Given the description of an element on the screen output the (x, y) to click on. 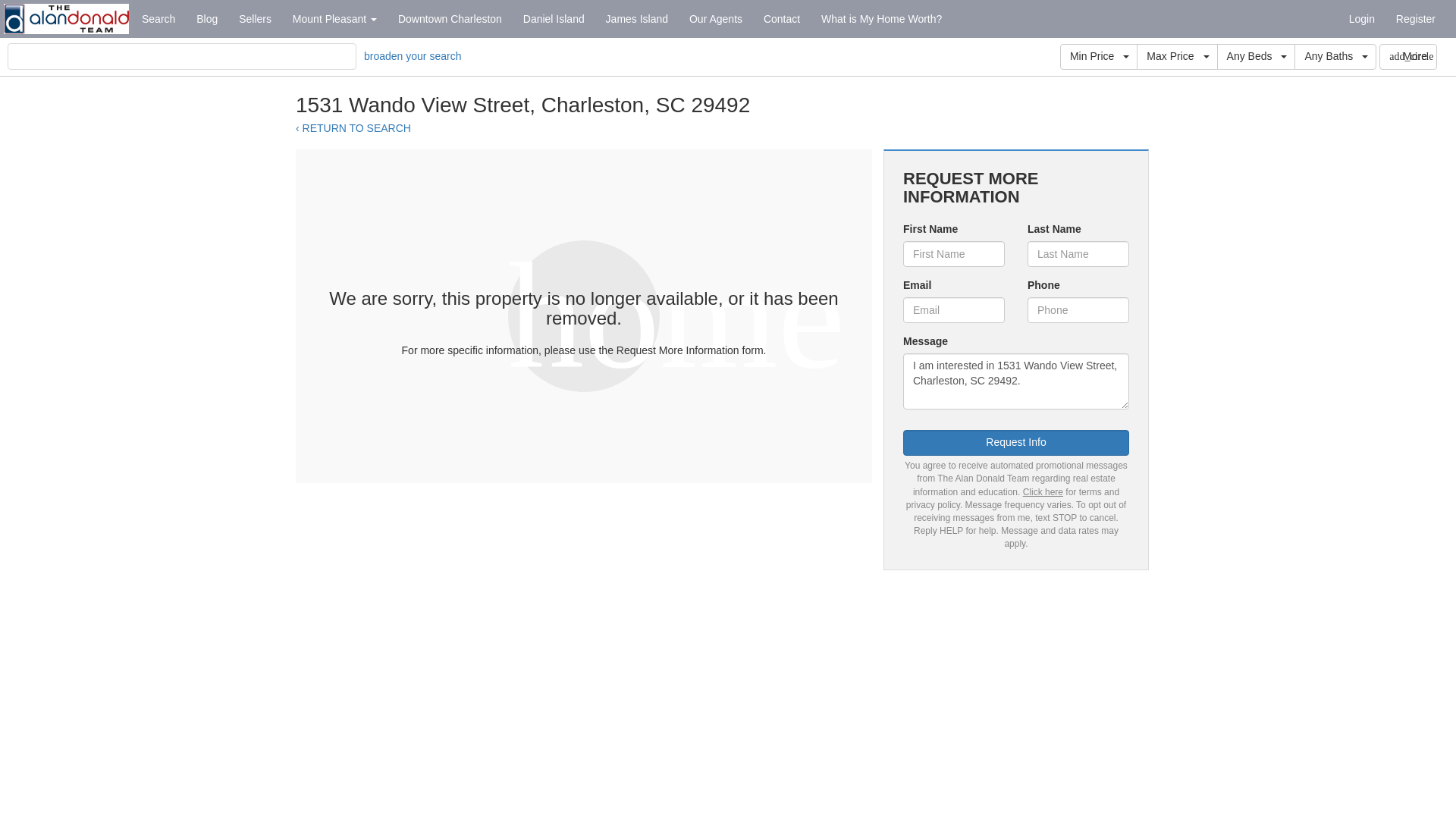
Contact (781, 18)
Search (158, 18)
Mount Pleasant (334, 18)
Min Price (1098, 56)
Downtown Charleston (449, 18)
James Island (636, 18)
broaden your search (412, 55)
Blog (207, 18)
Sellers (255, 18)
Our Agents (715, 18)
Register (1415, 18)
Login (1361, 18)
What is My Home Worth? (881, 18)
Daniel Island (553, 18)
